Given the description of an element on the screen output the (x, y) to click on. 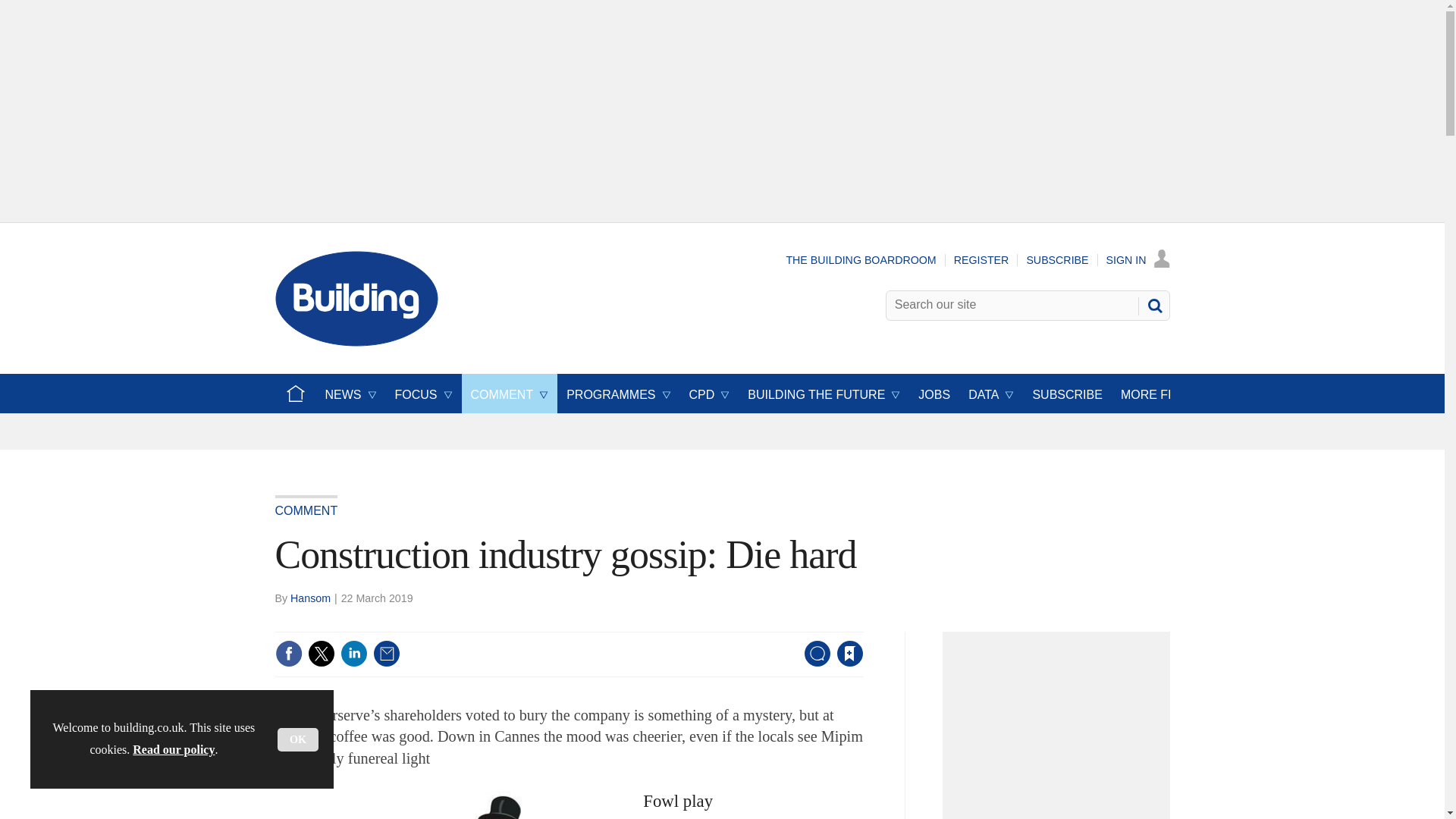
3rd party ad content (1059, 730)
Read our policy (173, 748)
Share this on Twitter (320, 653)
THE BUILDING BOARDROOM (861, 259)
REGISTER (981, 259)
Share this on Linked in (352, 653)
SIGN IN (1138, 259)
Share this on Facebook (288, 653)
Insert Logo text (356, 341)
